Given the description of an element on the screen output the (x, y) to click on. 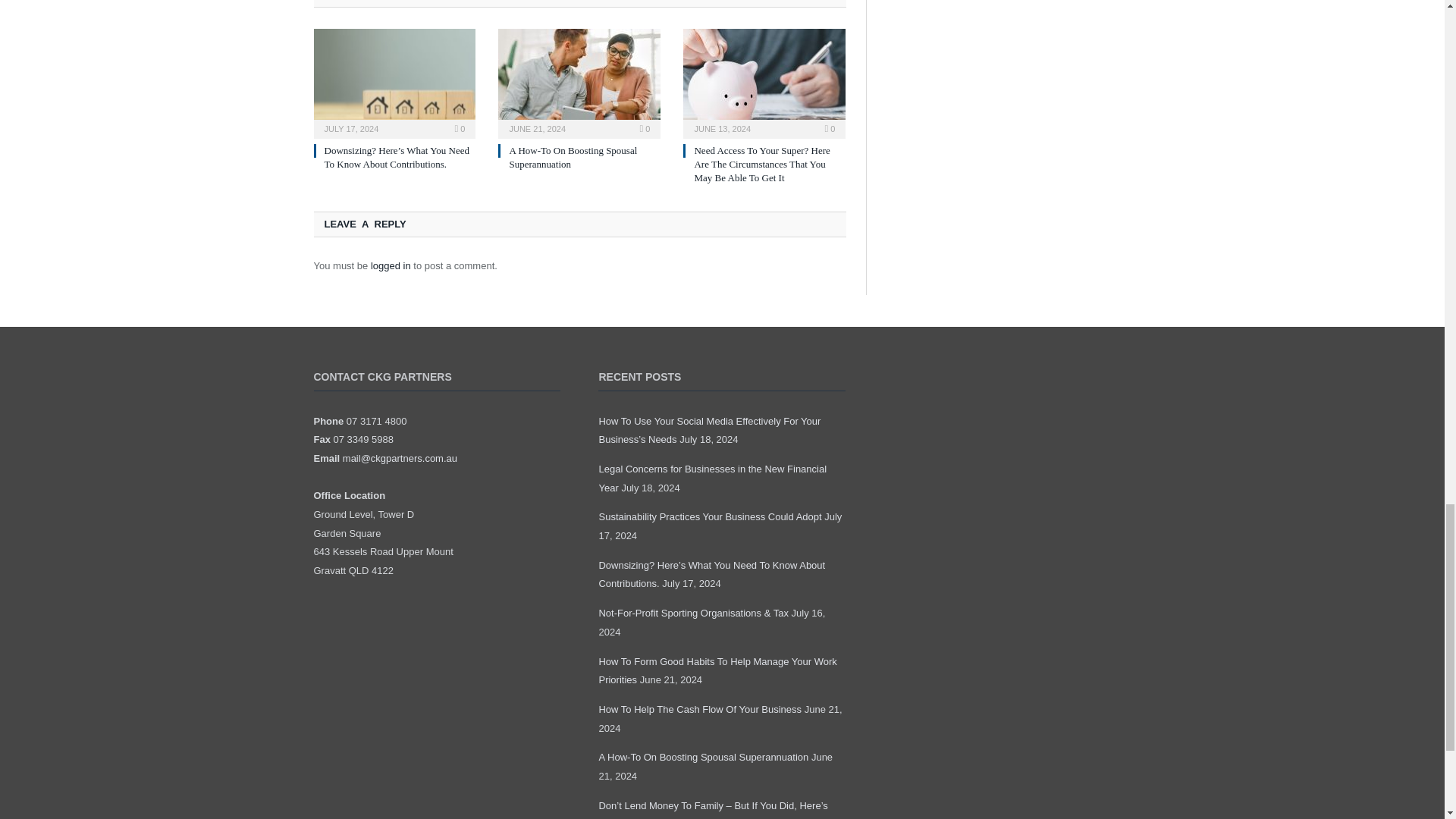
0 (459, 128)
